Given the description of an element on the screen output the (x, y) to click on. 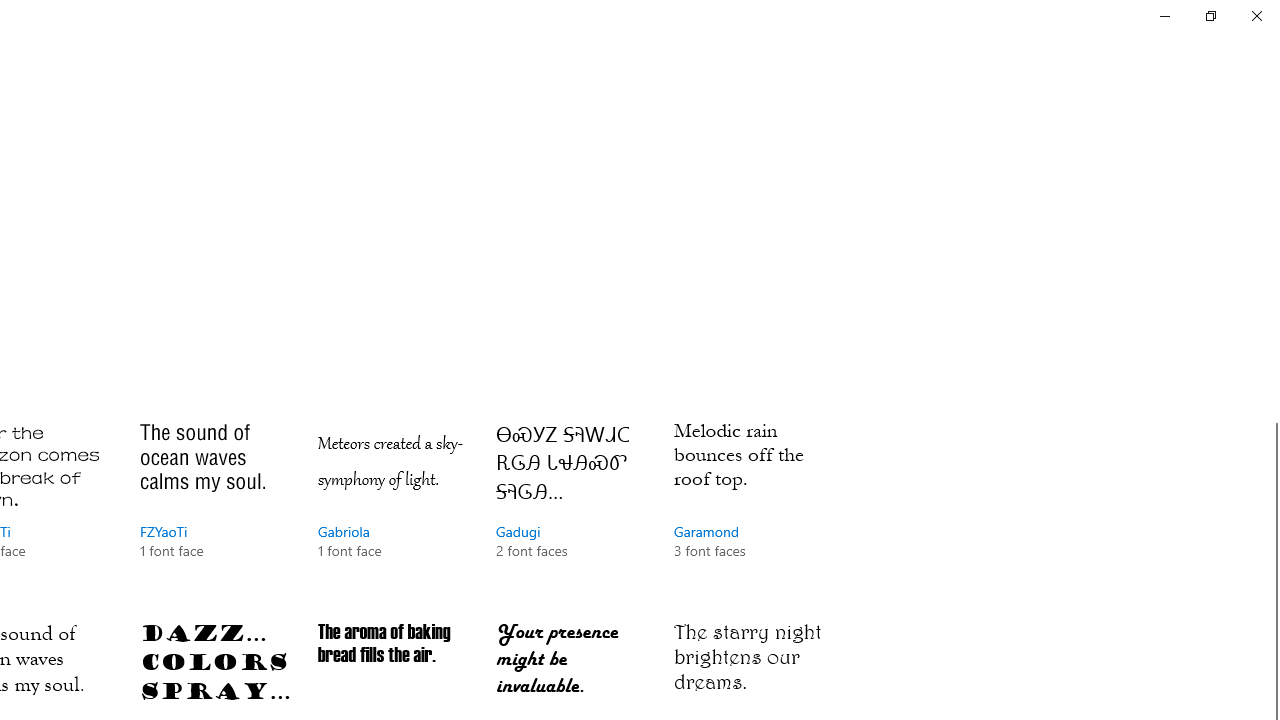
Gadugi, 2 font faces (570, 509)
Gabriola, 1 font face (392, 509)
FZYaoTi, 1 font face (214, 509)
Restore Settings (1210, 15)
Garamond, 3 font faces (748, 509)
Close Settings (1256, 15)
Vertical Large Decrease (1272, 267)
Vertical Small Decrease (1272, 103)
Minimize Settings (1164, 15)
